Given the description of an element on the screen output the (x, y) to click on. 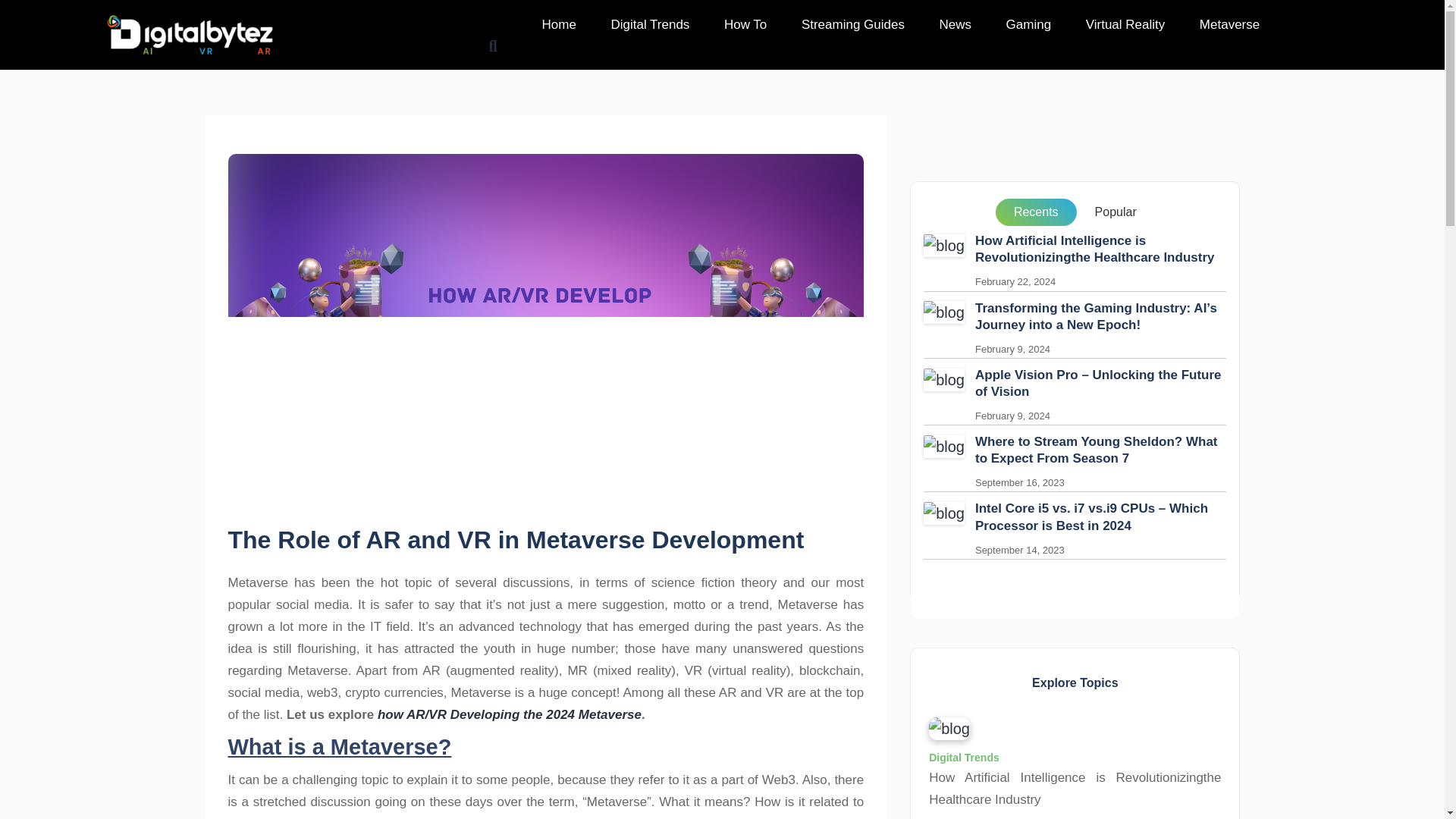
Where to Stream Young Sheldon? What to Expect From Season 7 (1101, 450)
Gaming (1029, 24)
How To (745, 24)
Home (559, 24)
Digital Trends (649, 24)
Recents (1036, 212)
Metaverse (1230, 24)
Popular (1115, 212)
Digital Trends (963, 757)
